Given the description of an element on the screen output the (x, y) to click on. 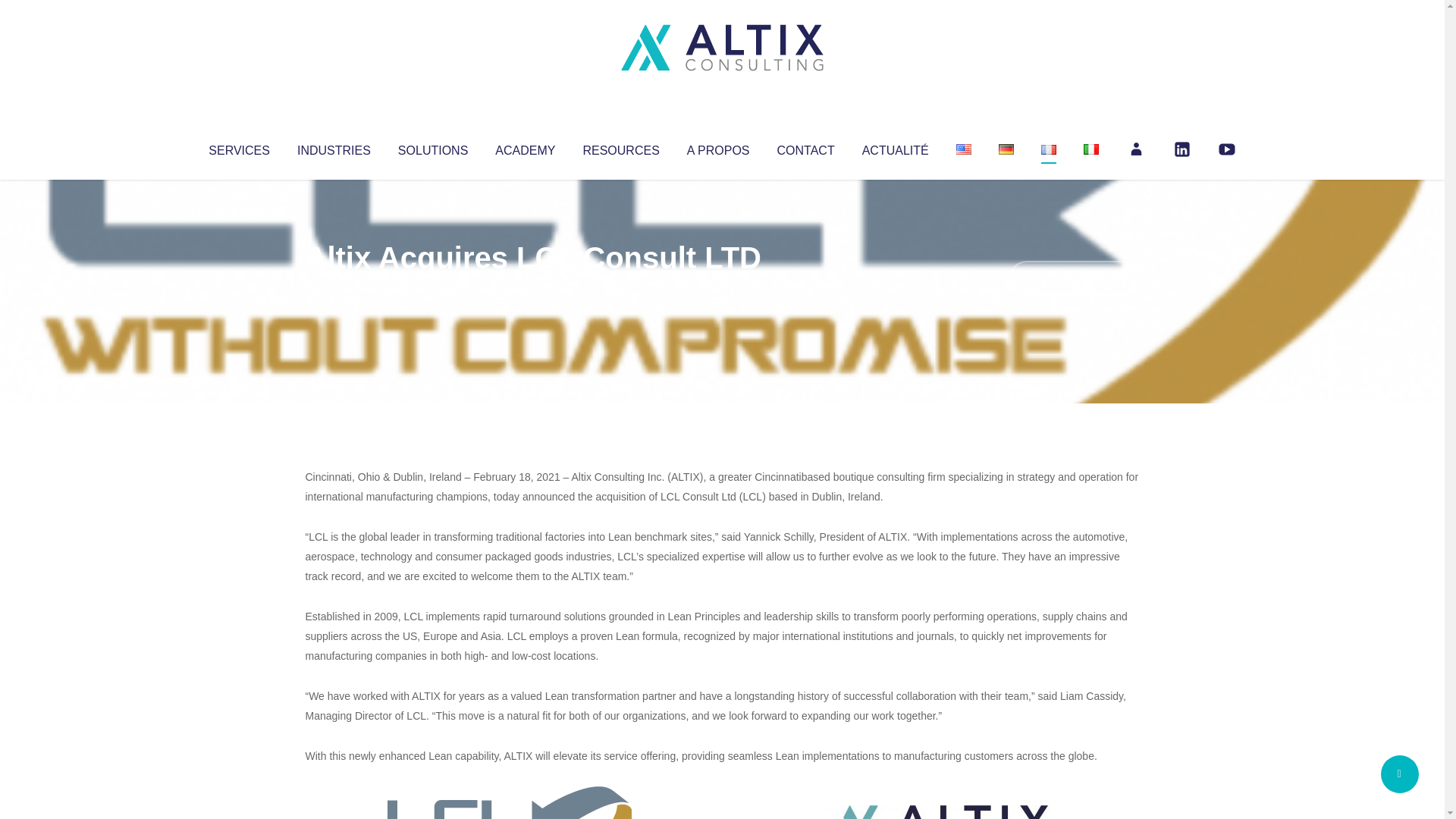
INDUSTRIES (334, 146)
SOLUTIONS (432, 146)
A PROPOS (718, 146)
RESOURCES (620, 146)
No Comments (1073, 278)
Altix (333, 287)
Articles par Altix (333, 287)
ACADEMY (524, 146)
Uncategorized (530, 287)
SERVICES (238, 146)
